Given the description of an element on the screen output the (x, y) to click on. 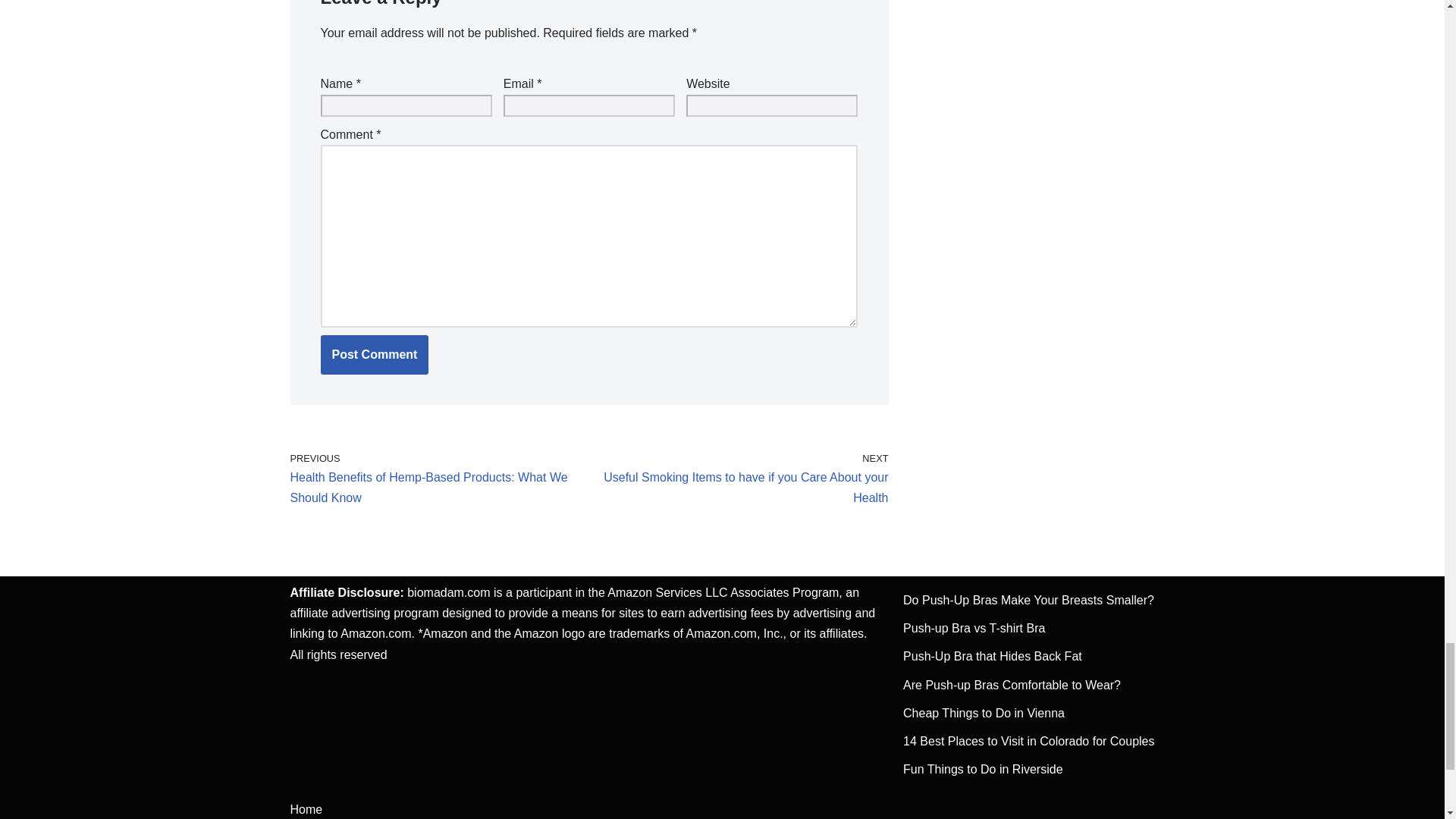
Post Comment (374, 354)
Post Comment (374, 354)
